Given the description of an element on the screen output the (x, y) to click on. 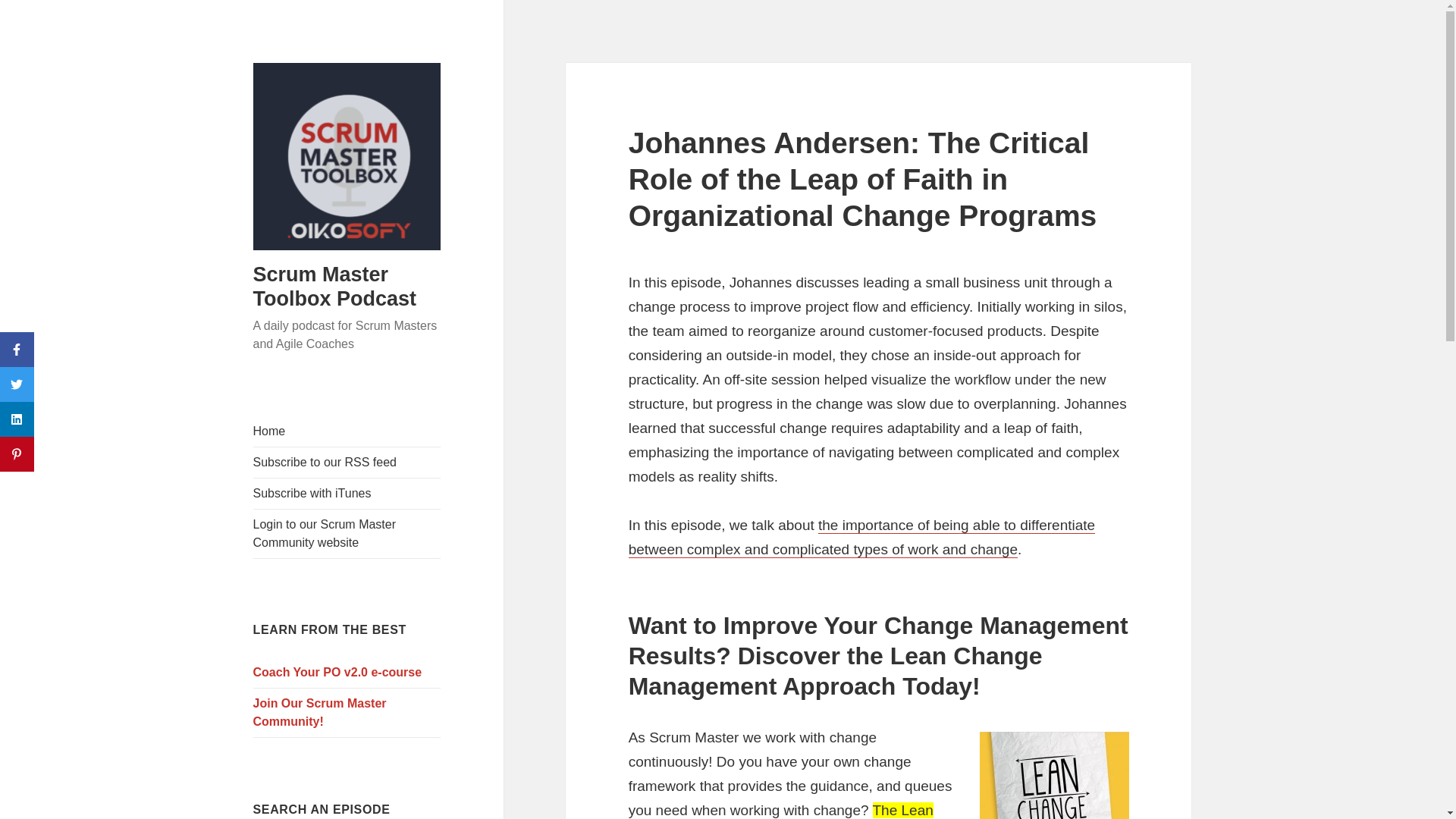
Scrum Master Toolbox Podcast (334, 286)
Join Our Scrum Master Community! (347, 712)
Login to our Scrum Master Community website (347, 533)
Subscribe to our RSS feed (347, 462)
Subscribe with iTunes (347, 493)
Home (347, 431)
Coach Your PO v2.0 e-course (347, 672)
